Given the description of an element on the screen output the (x, y) to click on. 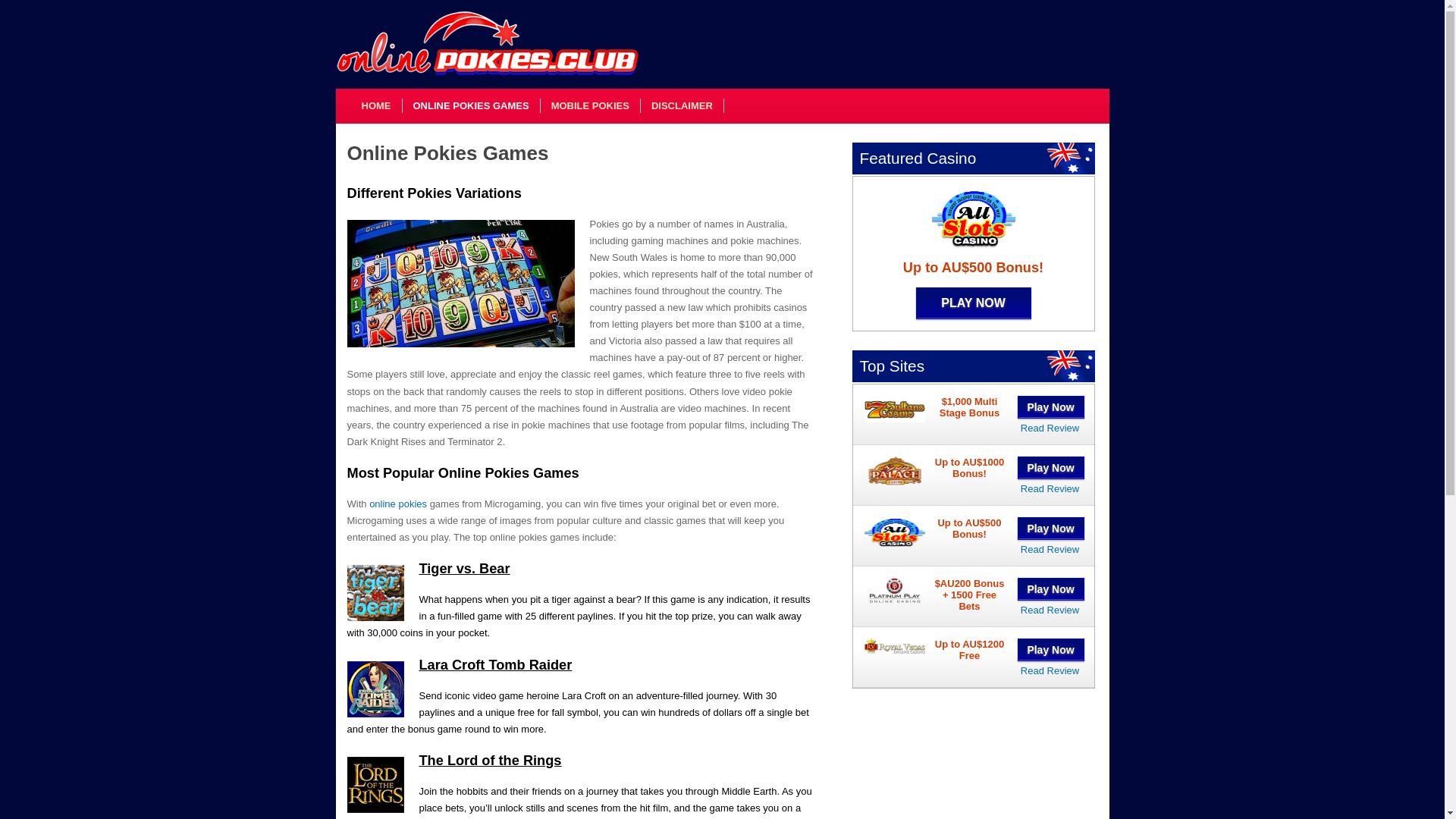
Online Pokies (397, 503)
Read Review (1049, 670)
HOME (375, 105)
Spin Palace Casino (1049, 488)
Platinum Play Casino (1049, 609)
PLAY NOW (972, 303)
Play Now (1050, 406)
Play Now (1050, 589)
MOBILE POKIES (590, 105)
All Slots Casino (1049, 549)
